Given the description of an element on the screen output the (x, y) to click on. 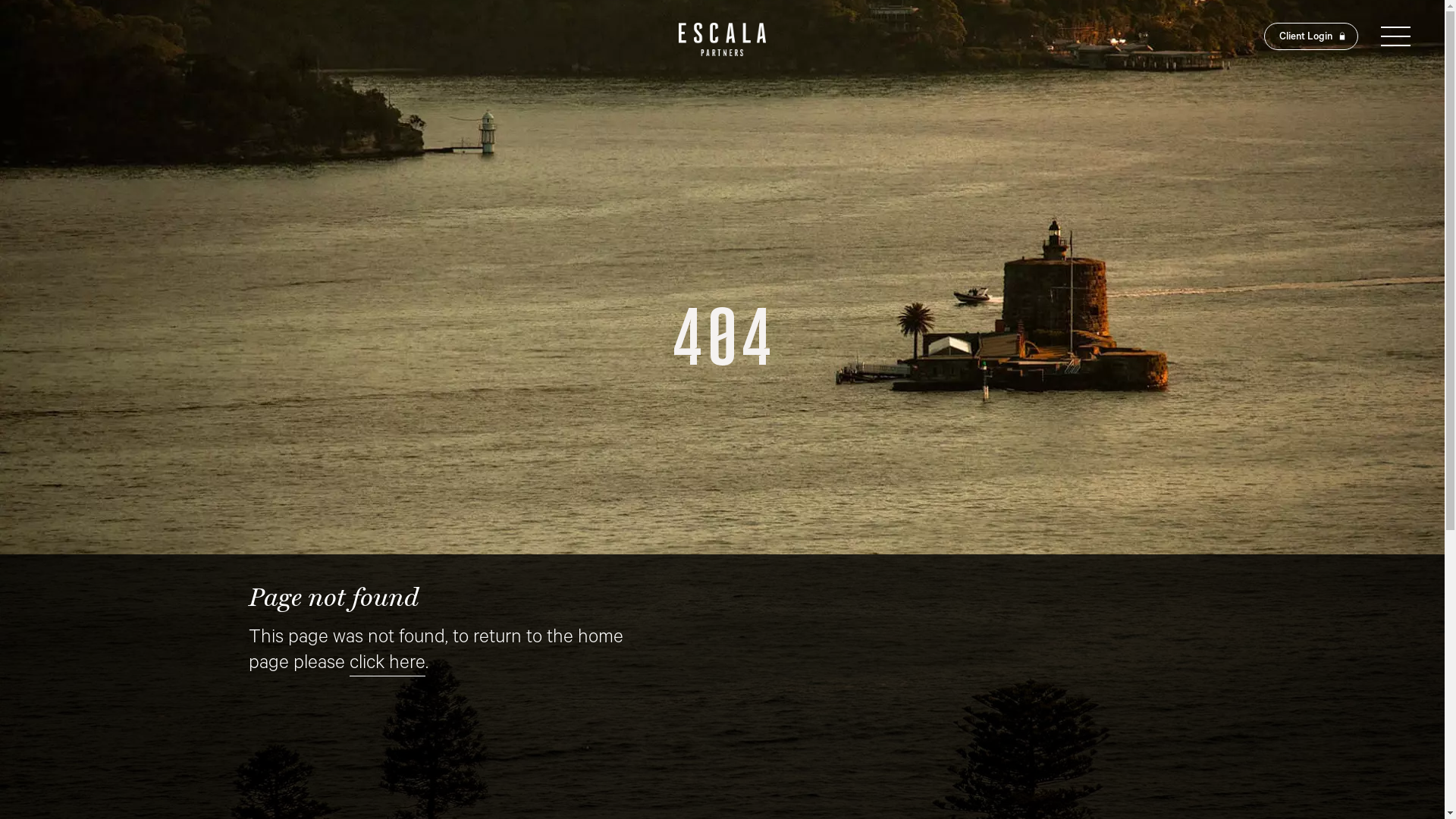
click here Element type: text (386, 665)
